Given the description of an element on the screen output the (x, y) to click on. 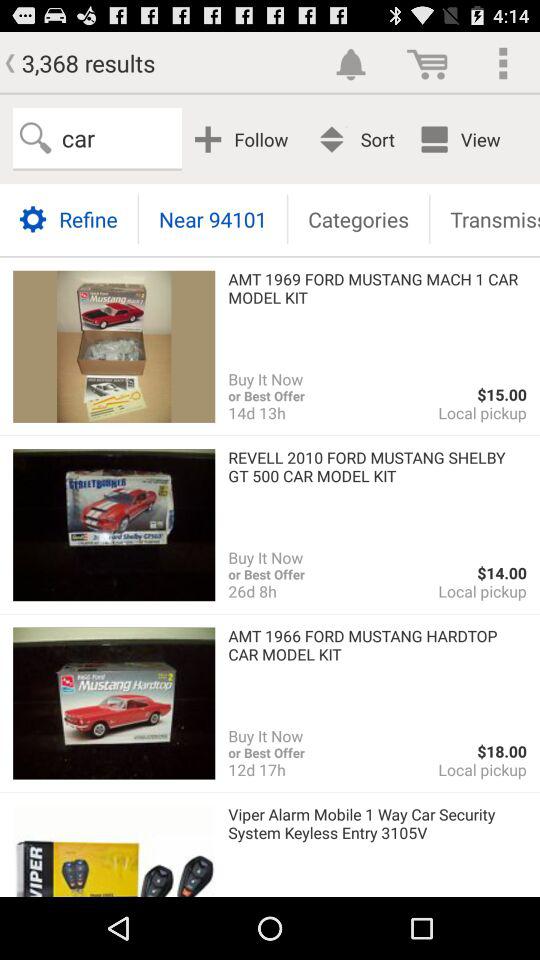
press the item below car app (68, 218)
